Given the description of an element on the screen output the (x, y) to click on. 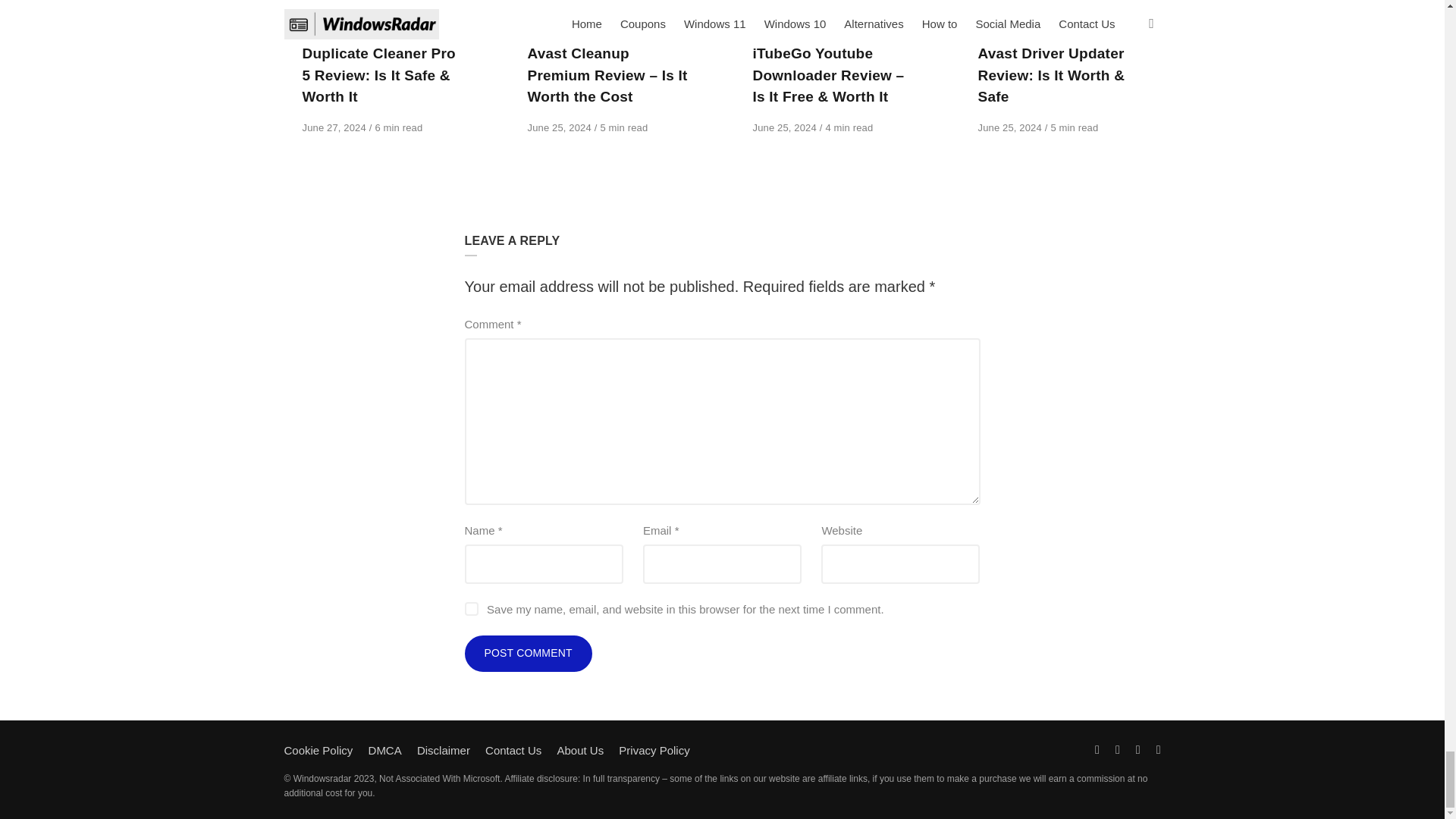
June 25, 2024 (785, 127)
June 25, 2024 (560, 127)
June 25, 2024 (1011, 127)
June 27, 2024 (334, 127)
Post Comment (527, 653)
yes (470, 608)
